Given the description of an element on the screen output the (x, y) to click on. 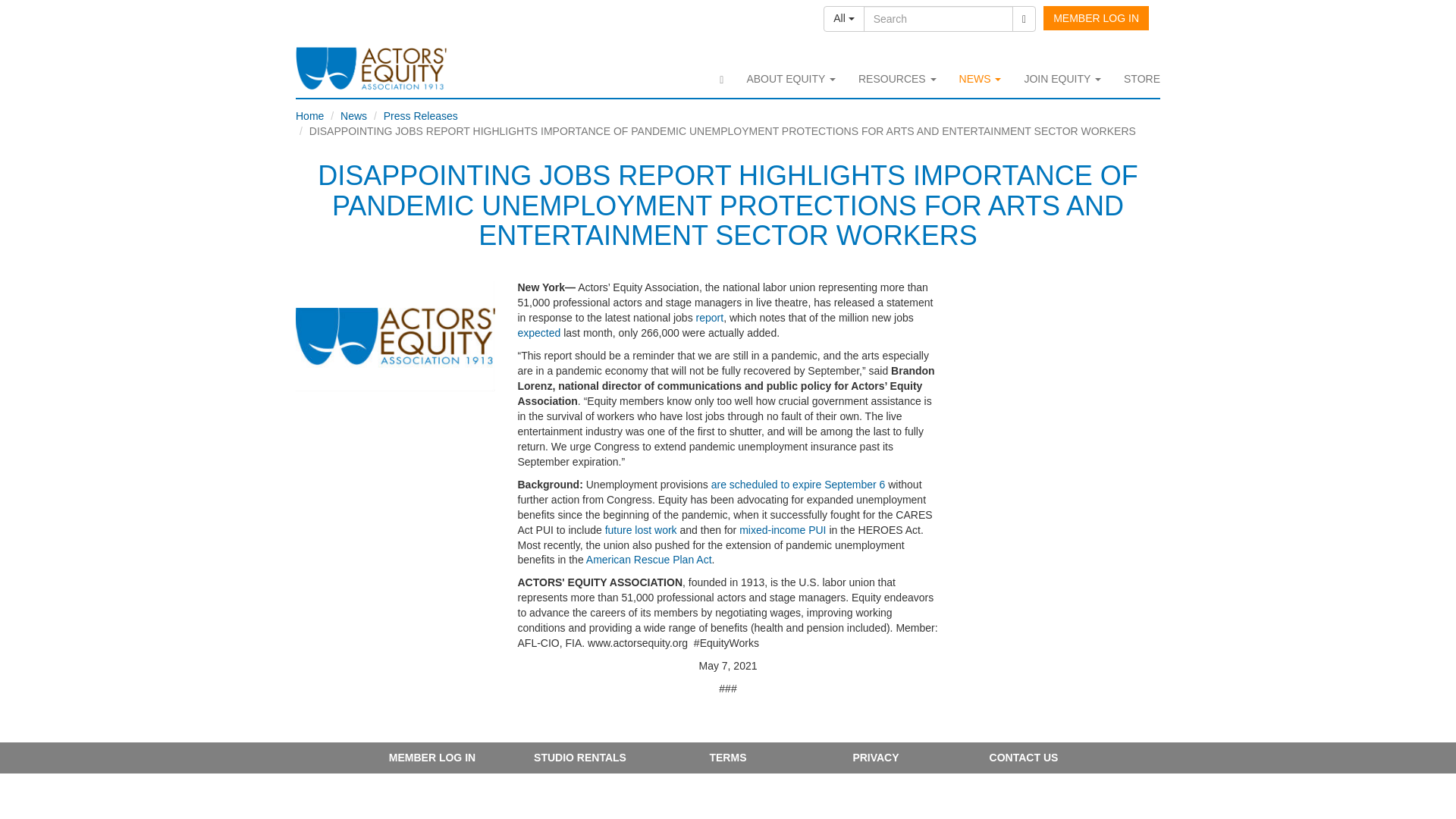
ABOUT EQUITY (791, 78)
ABOUT EQUITY (791, 78)
Search (938, 18)
MEMBER LOG IN (1095, 17)
All (843, 18)
RESOURCES (897, 78)
Search (1023, 18)
NEWS (980, 78)
RESOURCES (897, 78)
